Given the description of an element on the screen output the (x, y) to click on. 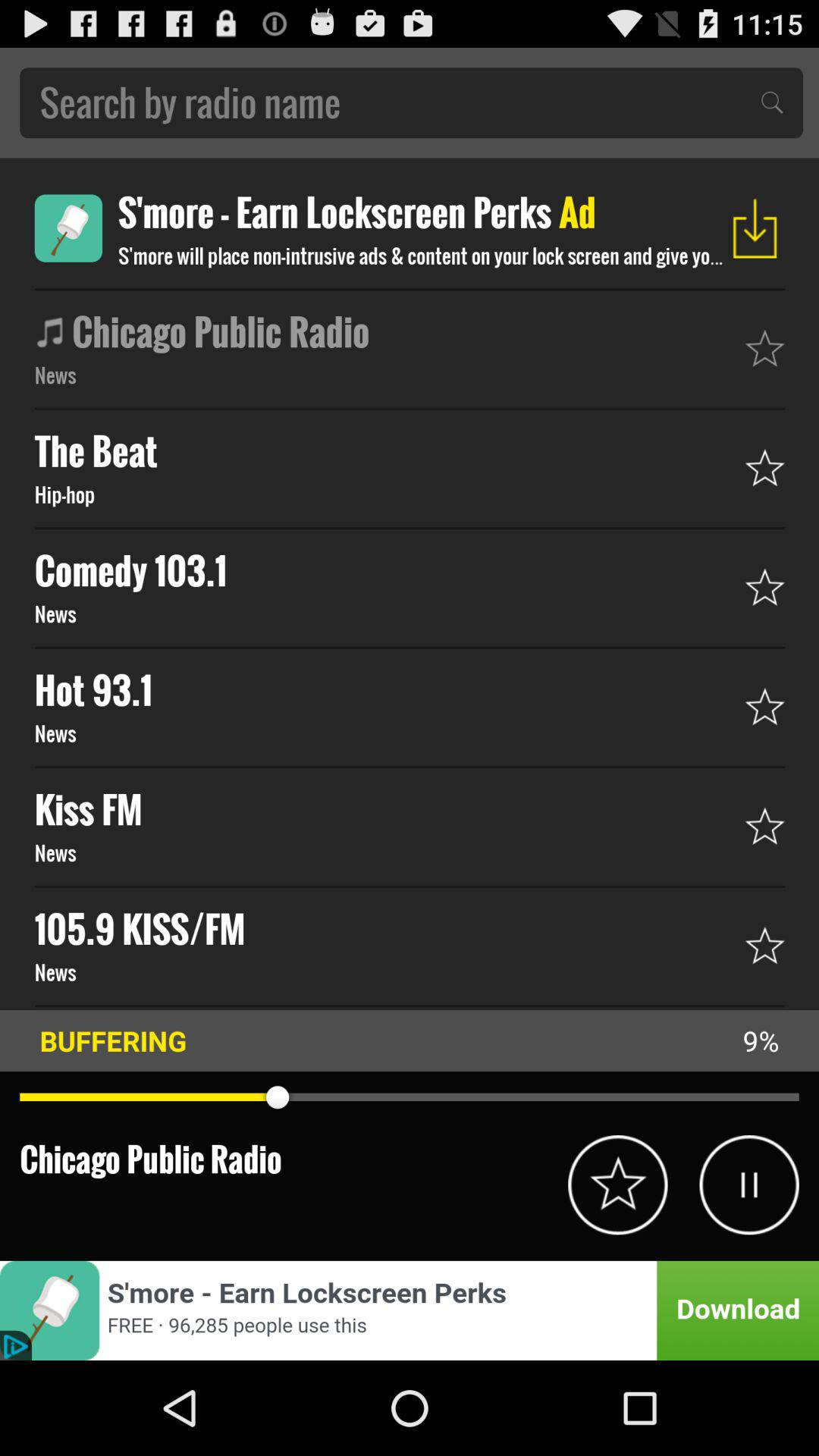
hit circled star (617, 1184)
